Given the description of an element on the screen output the (x, y) to click on. 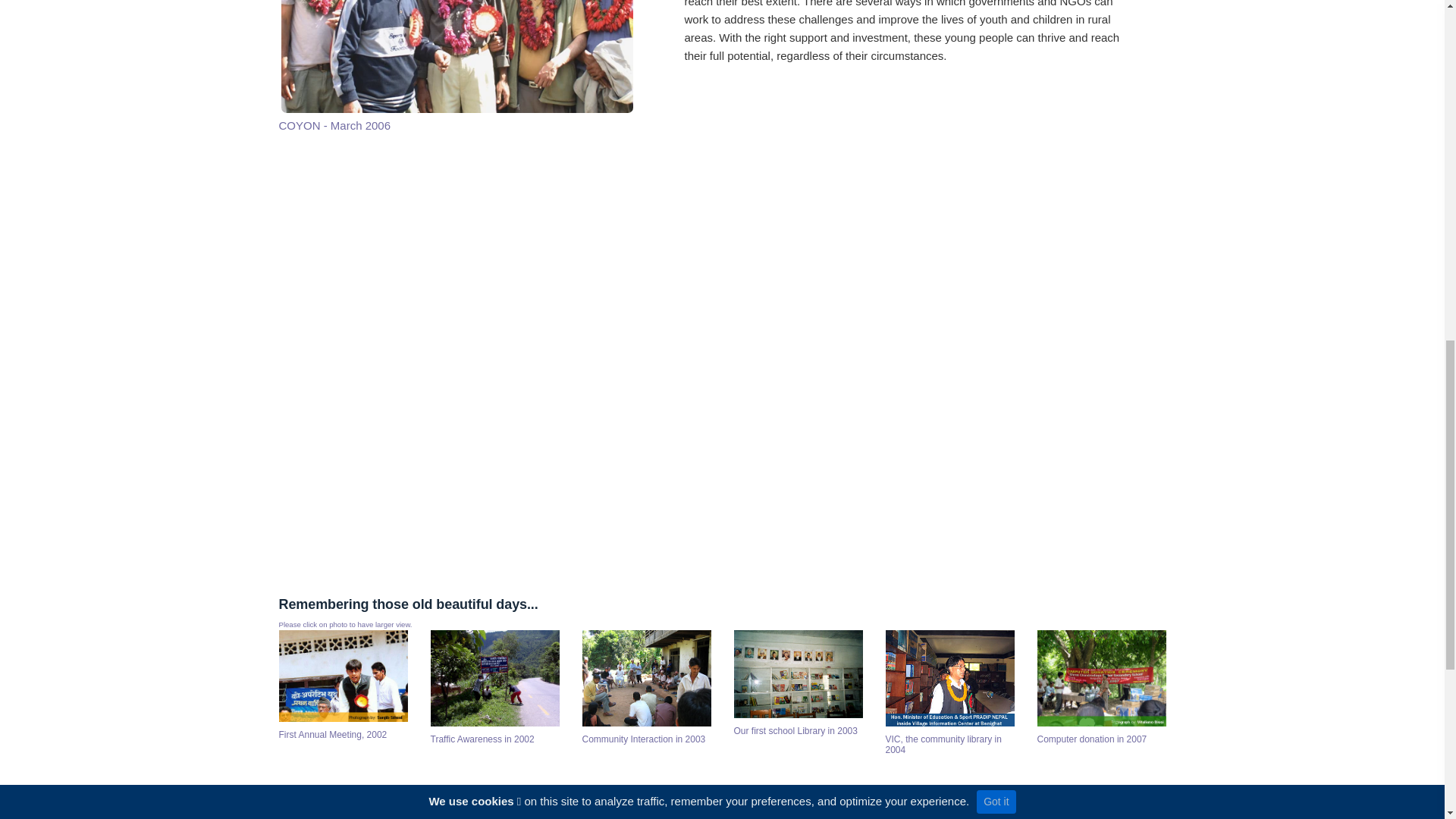
Village Information Center 2006. (949, 681)
Computer donation in 2007 (1101, 681)
First Annual Meeting of COYON in 2002 (343, 679)
Community Interaction in 2003. (646, 681)
First School library in 2003. (798, 676)
Our first work, Traffic awareness - 2002. (494, 681)
